Given the description of an element on the screen output the (x, y) to click on. 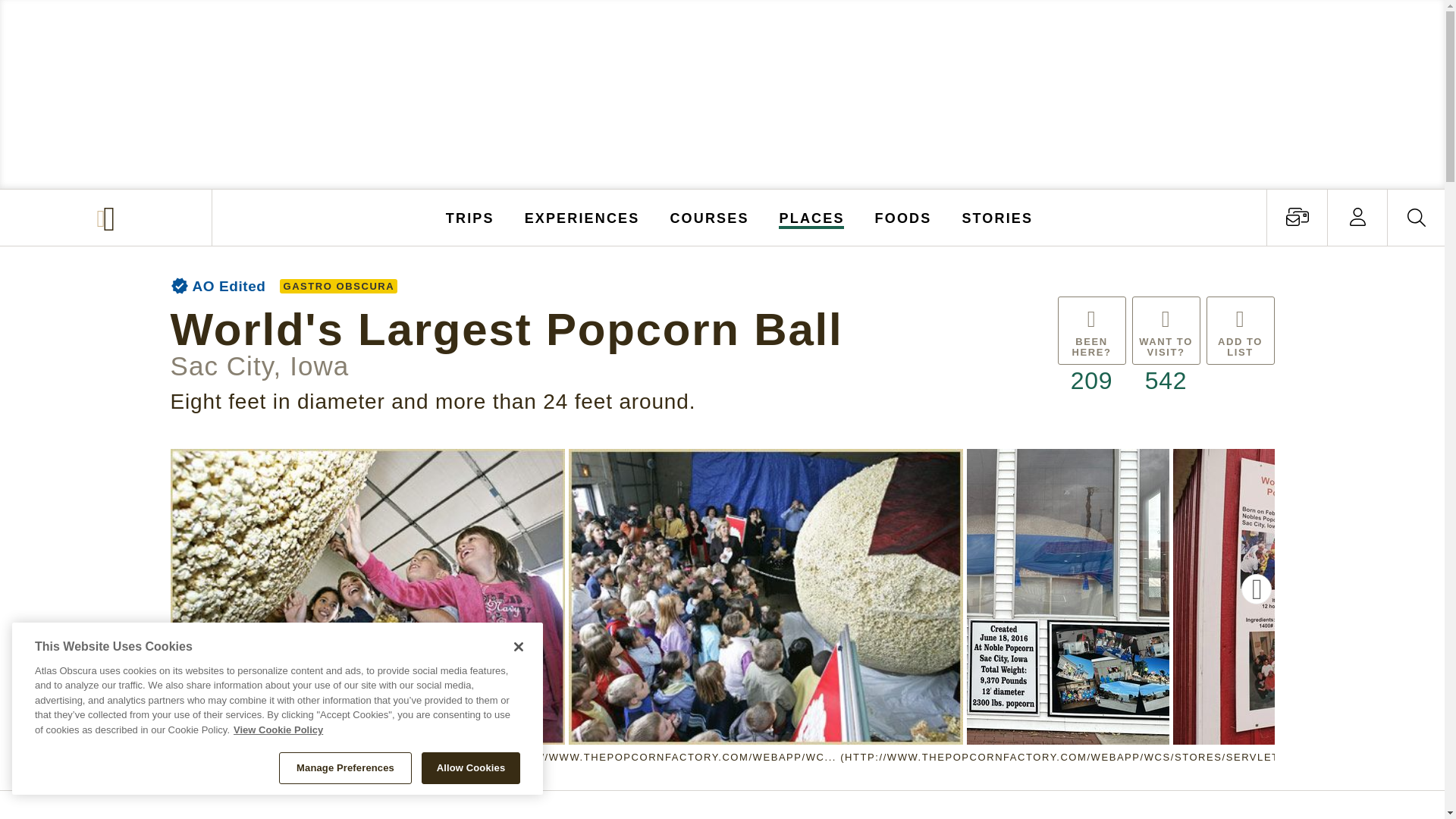
TRIPS (469, 217)
Add to list (1239, 347)
PLACES (812, 217)
COURSES (707, 217)
EXPERIENCES (582, 217)
